Given the description of an element on the screen output the (x, y) to click on. 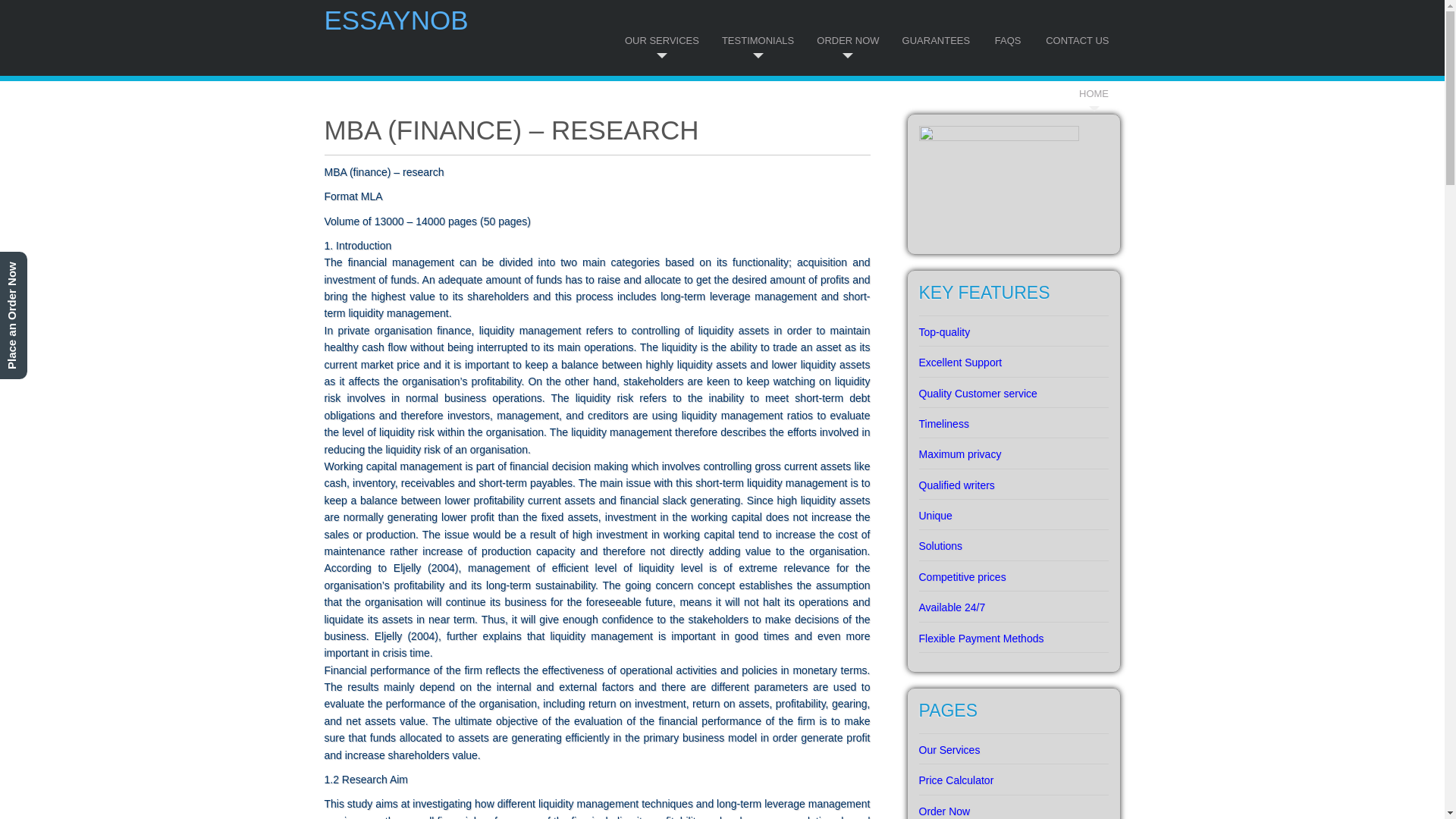
Our Services (1013, 744)
TESTIMONIALS (757, 26)
ORDER NOW (847, 26)
CONTACT US (1076, 26)
Price Calculator (1013, 774)
Order Now (1013, 805)
GUARANTEES (936, 26)
OUR SERVICES (661, 26)
